Given the description of an element on the screen output the (x, y) to click on. 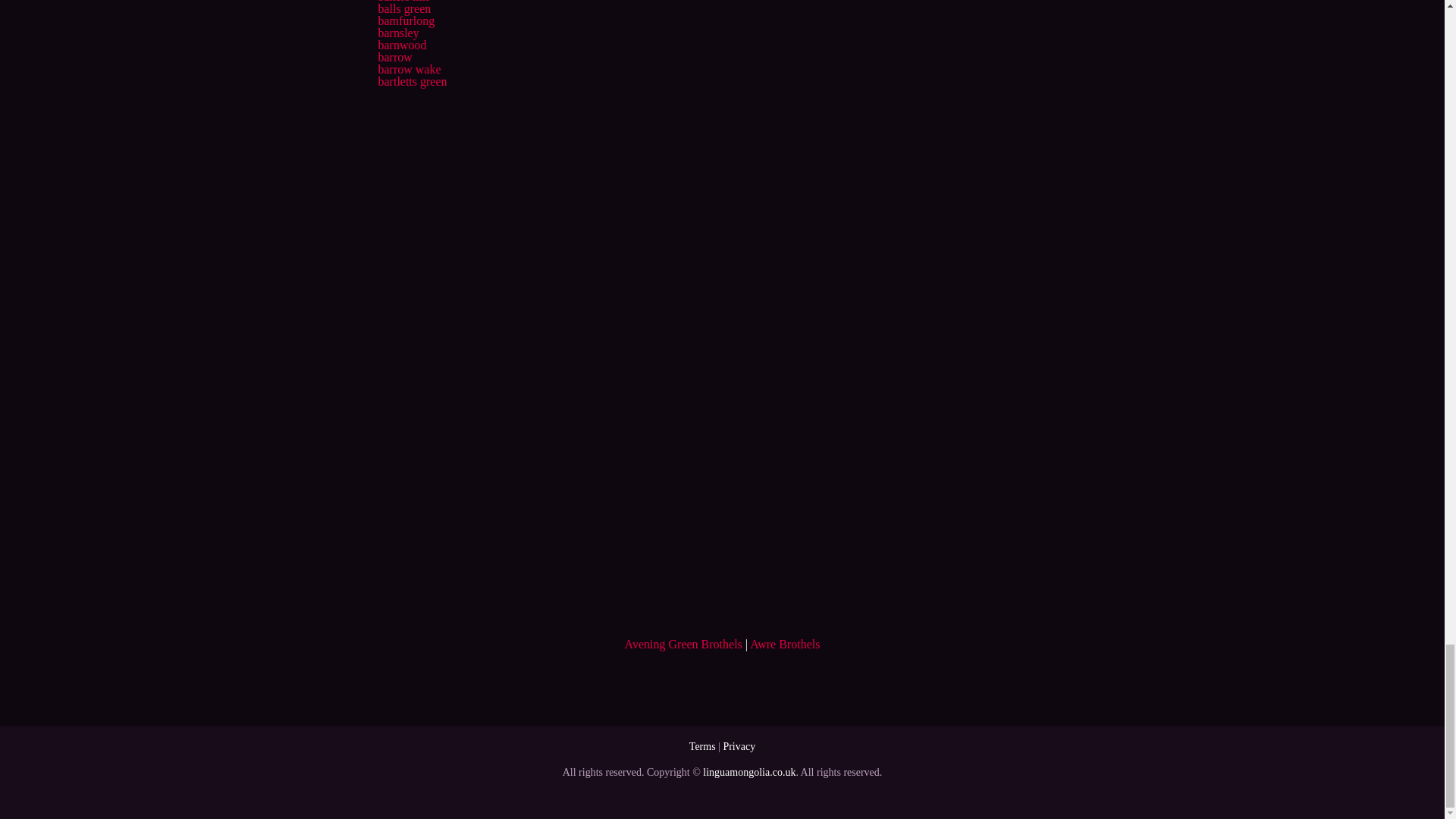
barrow wake (409, 69)
Avening Green Brothels (683, 644)
balls green (403, 8)
barnwood (401, 44)
barnsley (398, 32)
barrow (394, 56)
Privacy (738, 746)
Terms (702, 746)
linguamongolia.co.uk (748, 772)
Awre Brothels (784, 644)
